Given the description of an element on the screen output the (x, y) to click on. 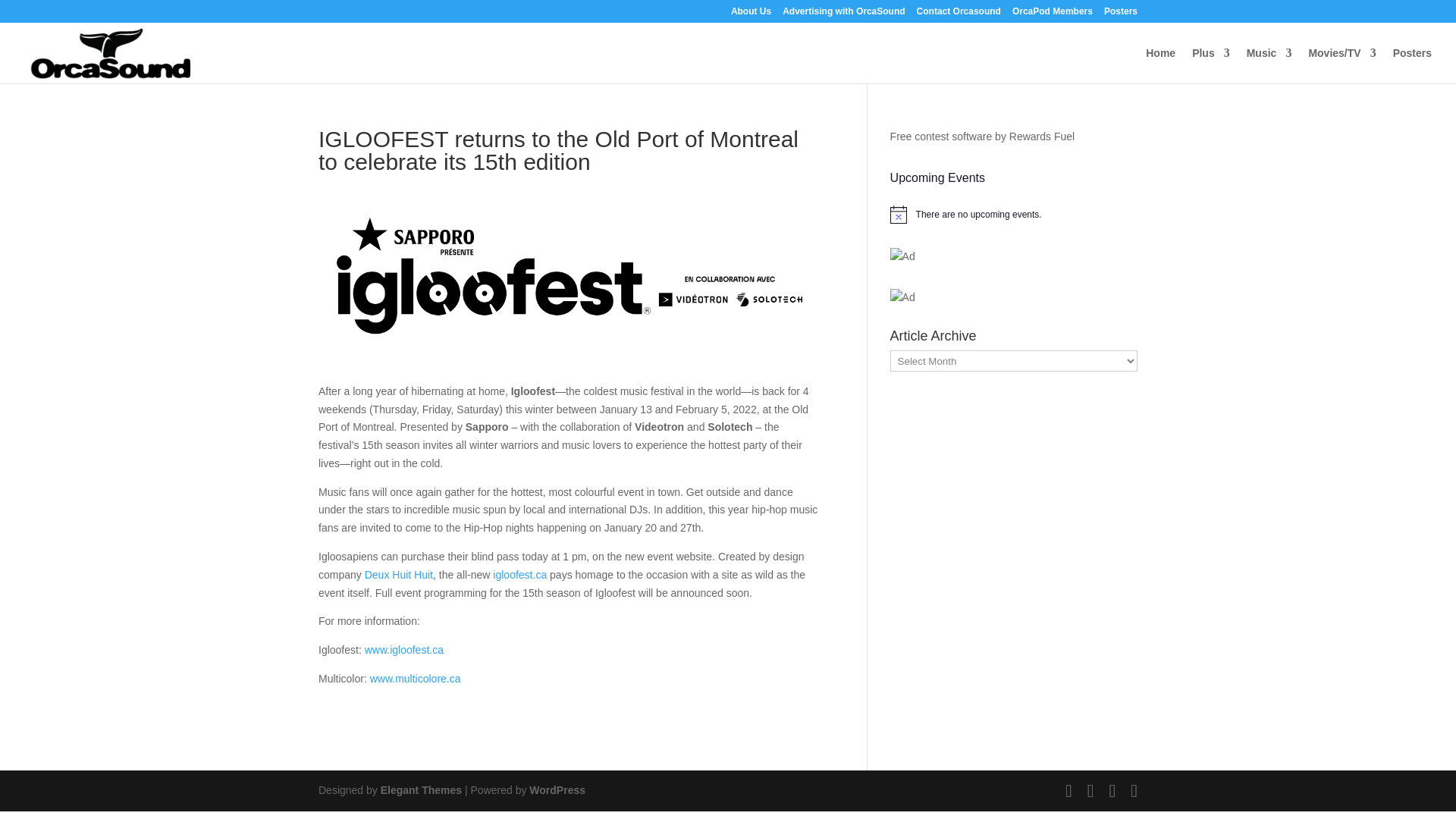
Advertising with OrcaSound (843, 14)
About Us (750, 14)
Premium WordPress Themes (420, 789)
Music (1269, 65)
OrcaPod Members (1052, 14)
Posters (1120, 14)
Contact Orcasound (959, 14)
Plus (1211, 65)
